Given the description of an element on the screen output the (x, y) to click on. 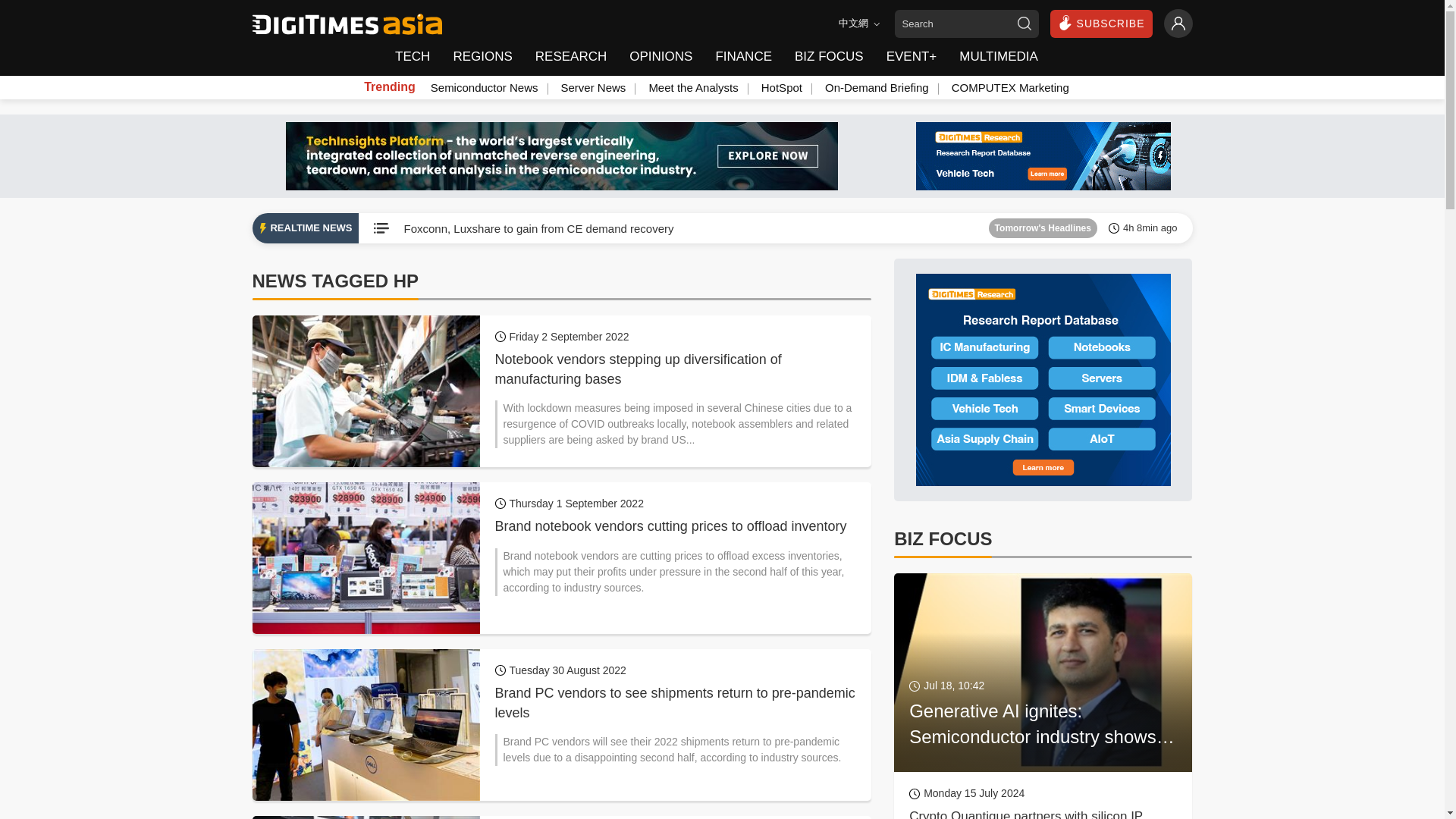
SUBSCRIBE (1101, 22)
TECH (417, 56)
REGIONS (481, 56)
RESEARCH (570, 56)
